Given the description of an element on the screen output the (x, y) to click on. 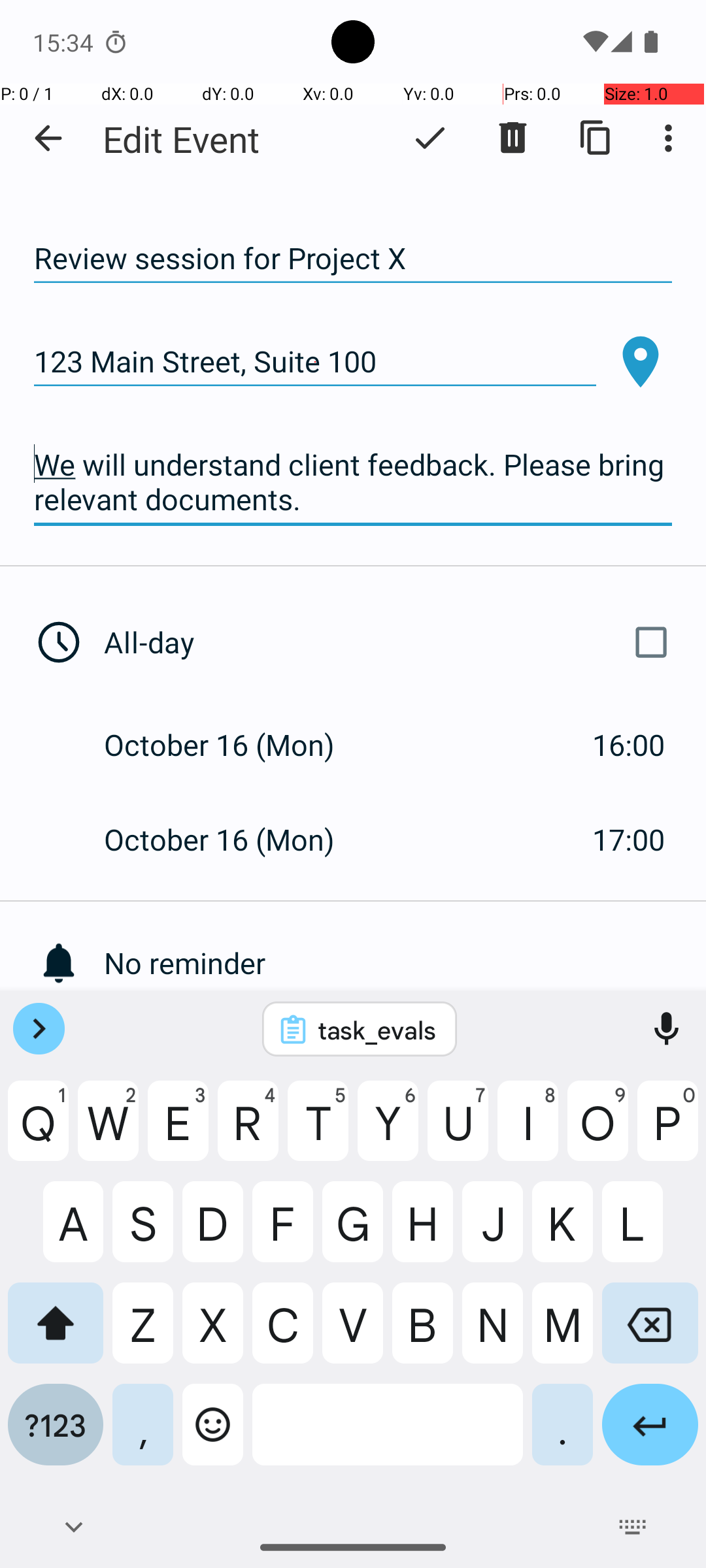
123 Main Street, Suite 100 Element type: android.widget.EditText (314, 361)
We will understand client feedback. Please bring relevant documents. Element type: android.widget.EditText (352, 482)
